Given the description of an element on the screen output the (x, y) to click on. 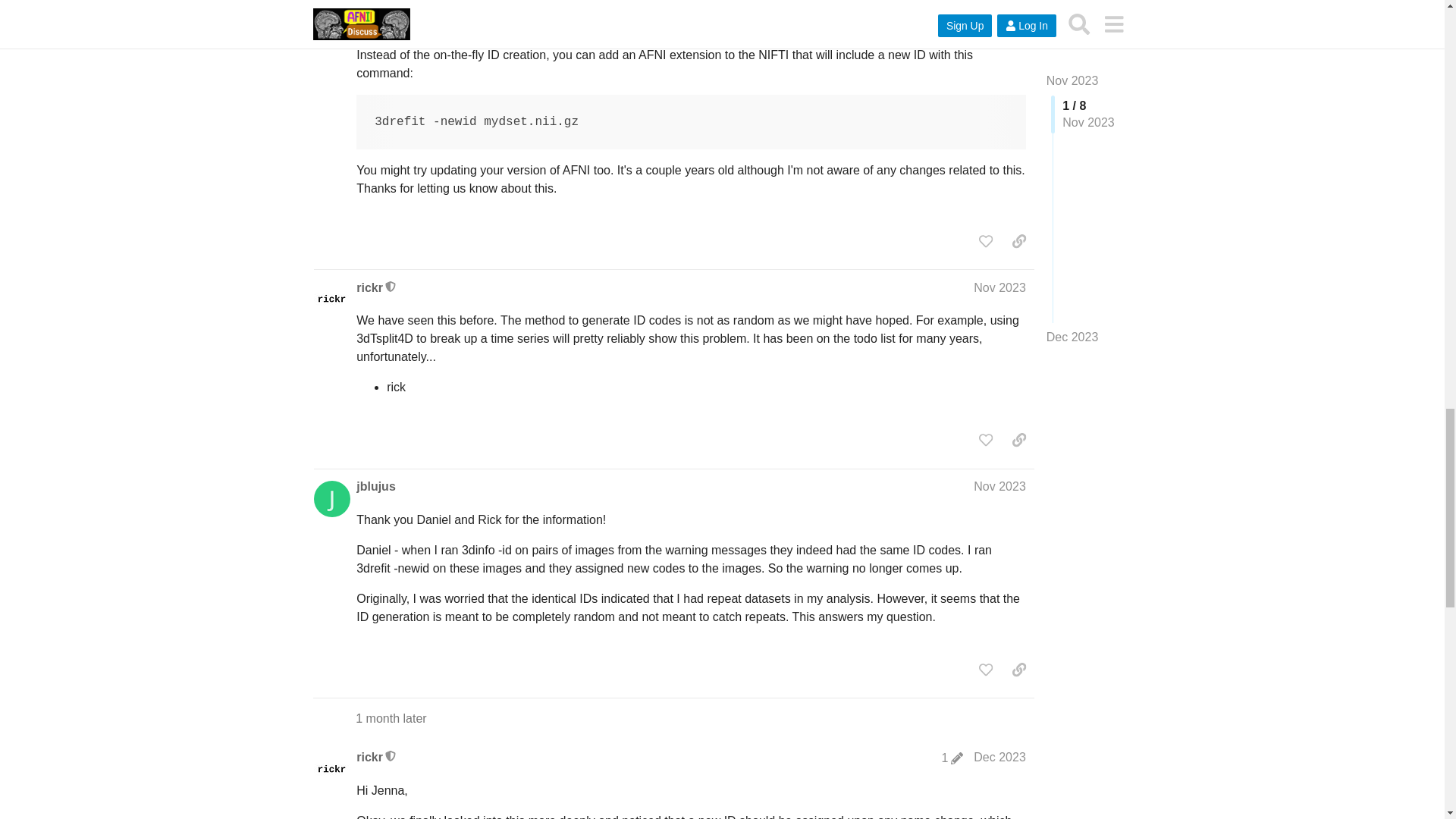
3drefit -newid mydset.nii.gz (691, 122)
3drefit -newid mydset.nii.gz (691, 122)
3dinfo -id mydset.nii.gz (691, 17)
3dinfo -id mydset.nii.gz (691, 17)
